Given the description of an element on the screen output the (x, y) to click on. 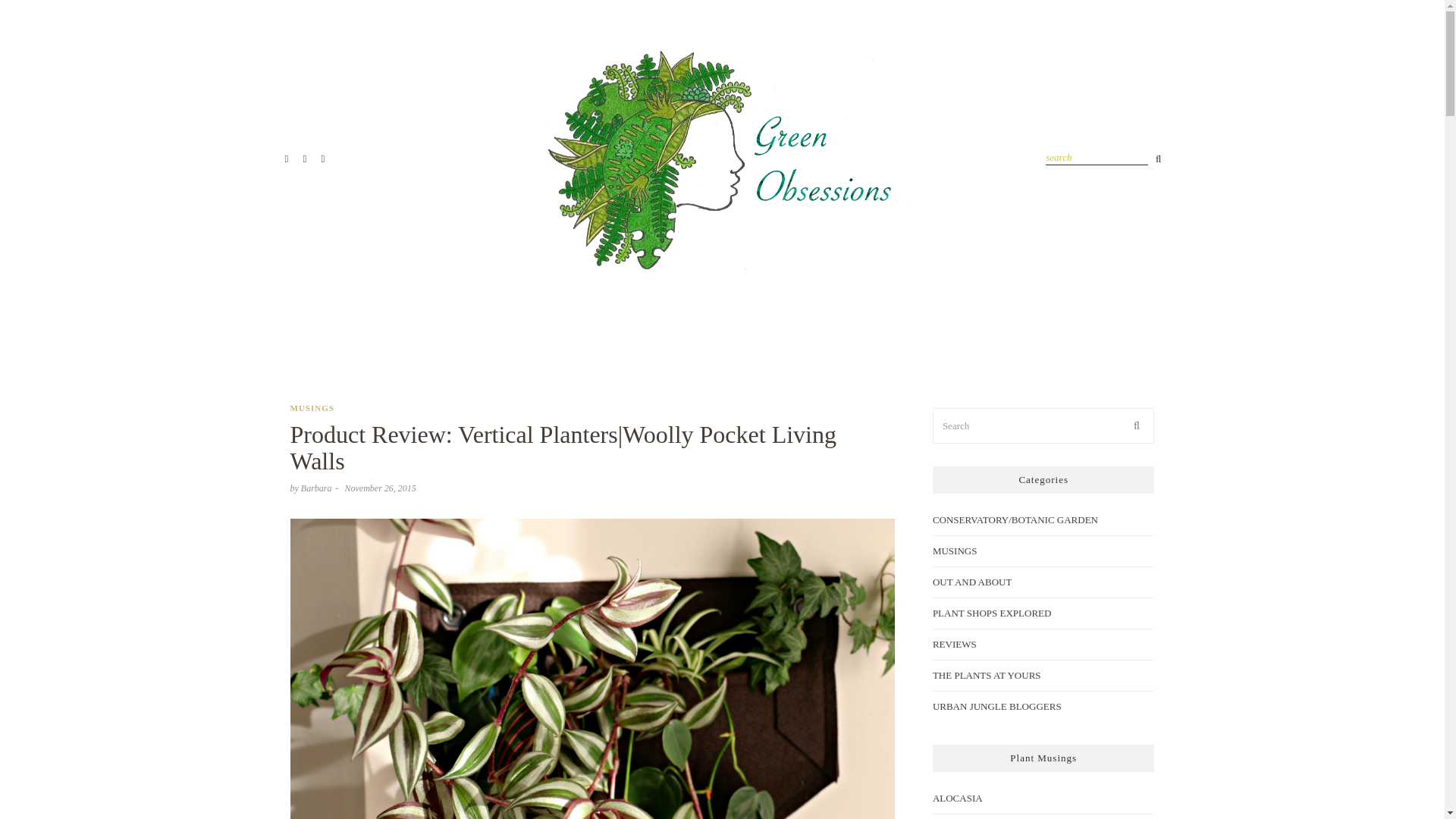
ABOUT ME (867, 336)
SHOP (935, 336)
MUSINGS (311, 407)
Barbara (316, 488)
HOME (499, 336)
